Given the description of an element on the screen output the (x, y) to click on. 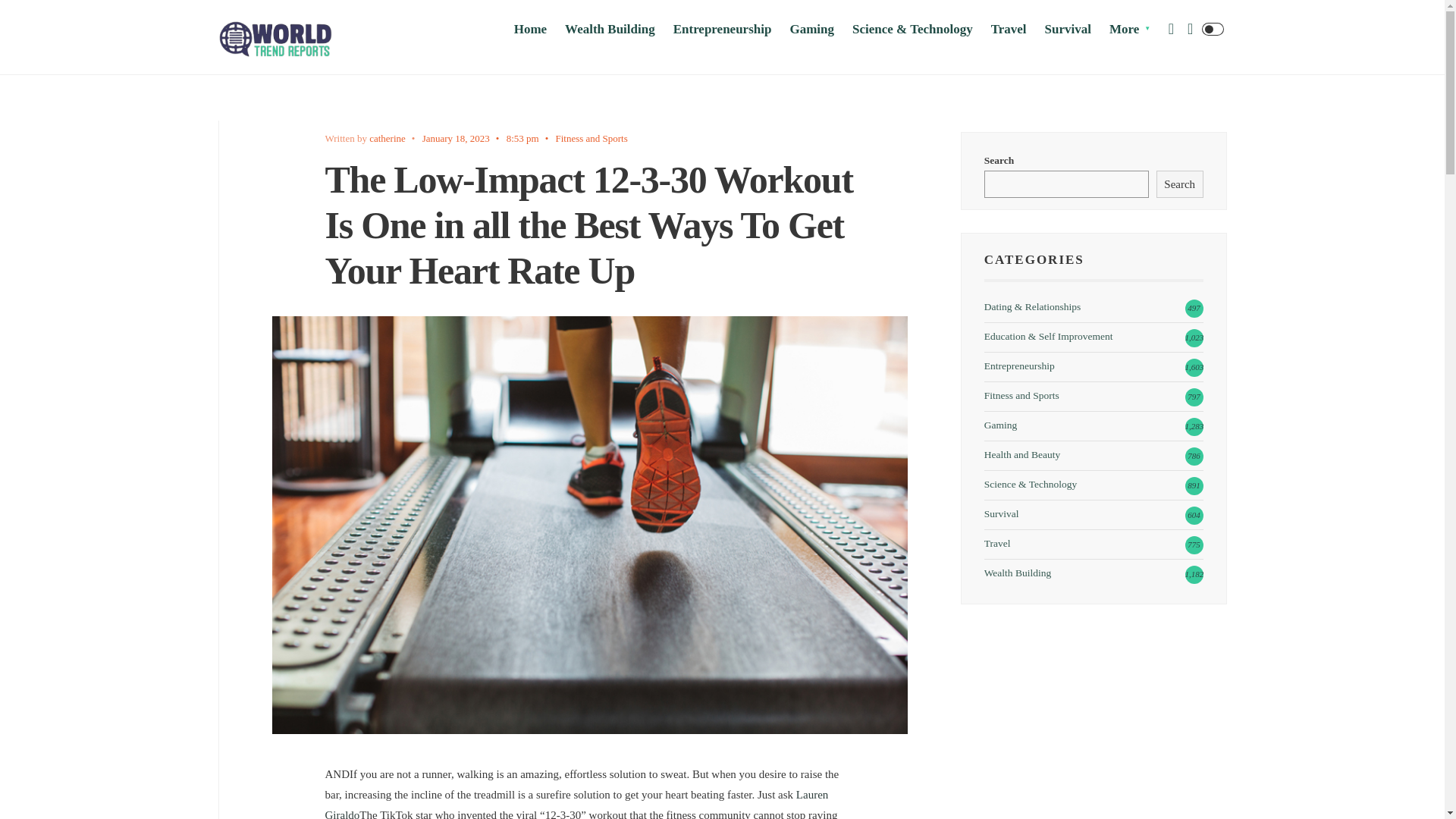
Wealth Building (609, 28)
Home (530, 28)
Lauren Giraldo (576, 803)
Travel (1008, 28)
Posts by catherine (387, 138)
Fitness and Sports (590, 138)
Gaming (811, 28)
More (1129, 28)
Entrepreneurship (721, 28)
catherine (387, 138)
